Given the description of an element on the screen output the (x, y) to click on. 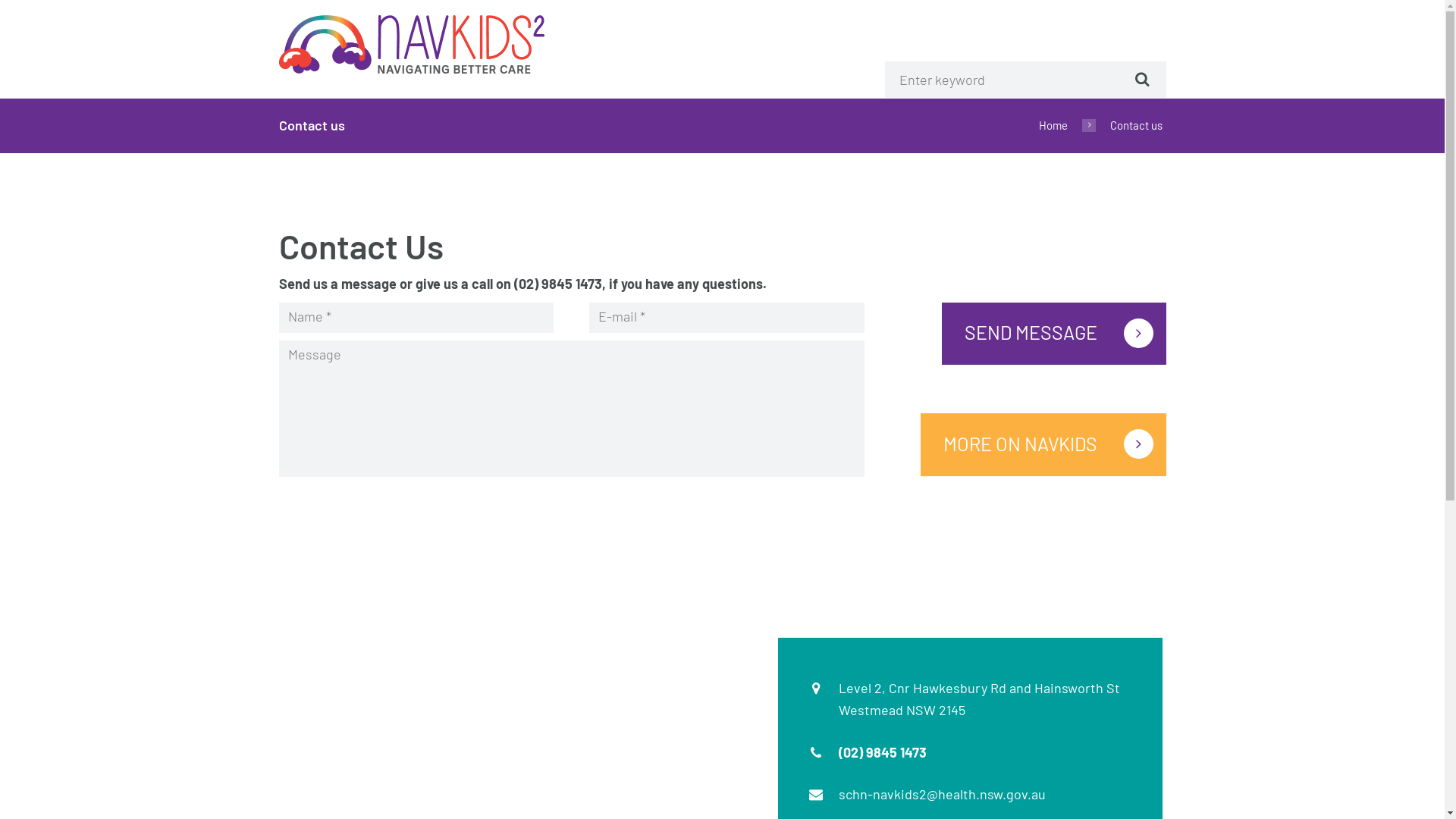
Home Element type: text (1052, 124)
SEND MESSAGE Element type: text (1053, 333)
Enter keyword Element type: hover (1009, 79)
MORE ON NAVKIDS Element type: text (1042, 444)
Start search Element type: hover (1139, 79)
